Given the description of an element on the screen output the (x, y) to click on. 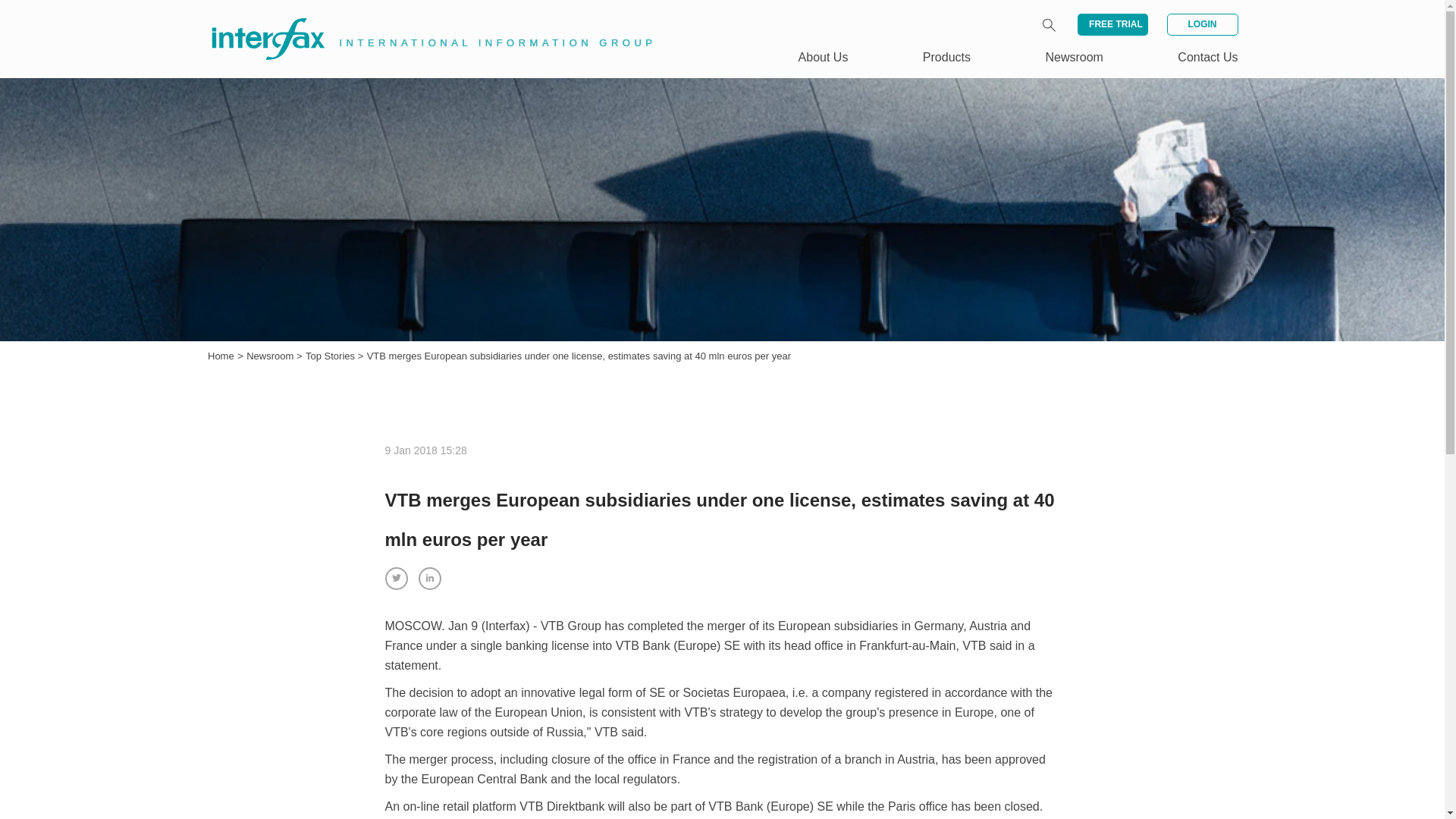
Newsroom (271, 355)
Products (947, 56)
Contact Us (1207, 56)
FREE TRIAL (1112, 24)
Newsroom (271, 355)
Contact Us (1207, 56)
About Us (822, 56)
Top Stories (331, 355)
LOGIN (1201, 24)
Newsroom (1073, 56)
